Given the description of an element on the screen output the (x, y) to click on. 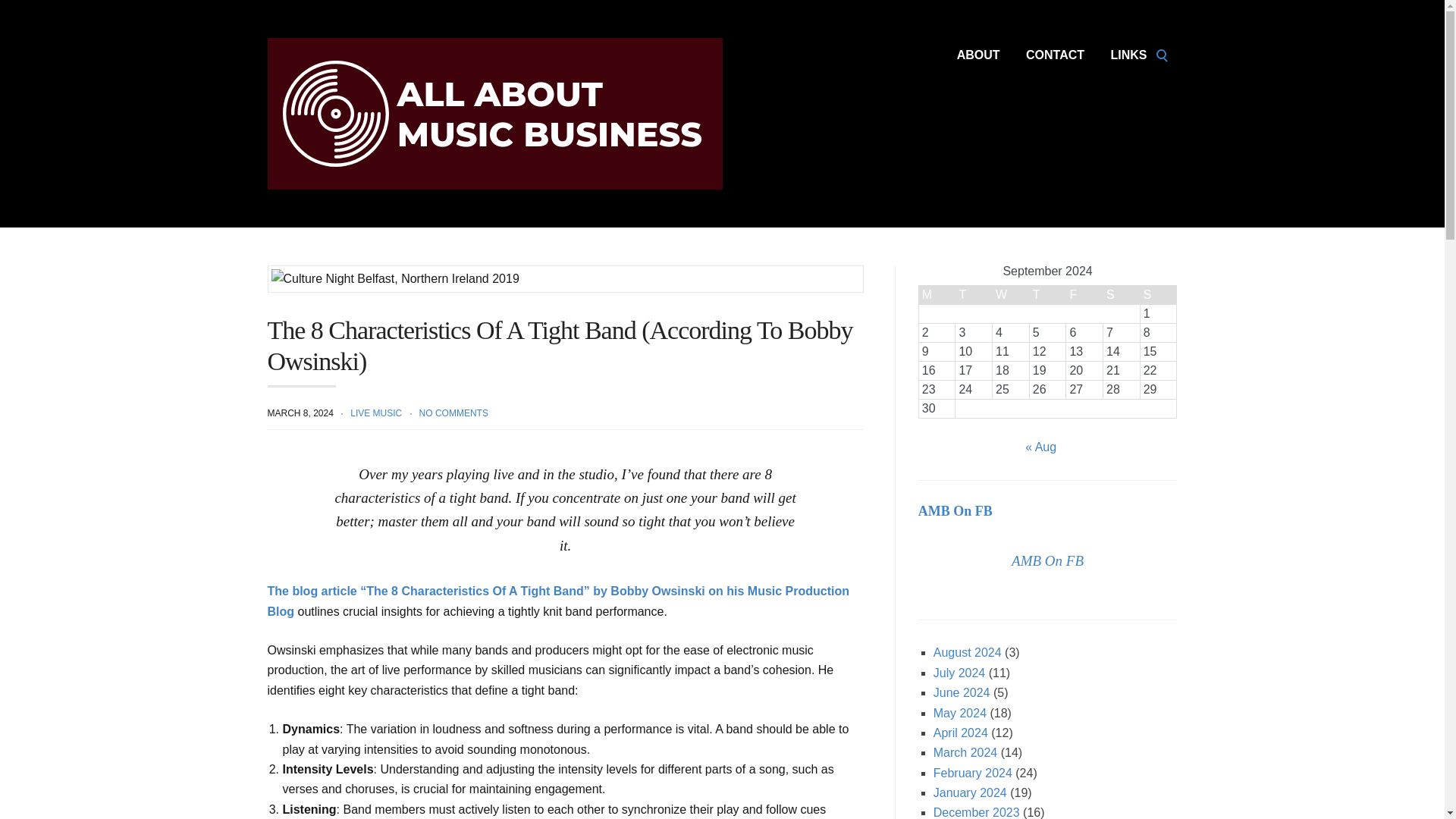
June 2024 (961, 692)
February 2024 (972, 772)
AMB On FB (1047, 560)
Saturday (1121, 294)
CONTACT (1055, 54)
Sunday (1158, 294)
LIVE MUSIC (375, 412)
Thursday (1047, 294)
March 2024 (965, 752)
May 2024 (960, 712)
